Given the description of an element on the screen output the (x, y) to click on. 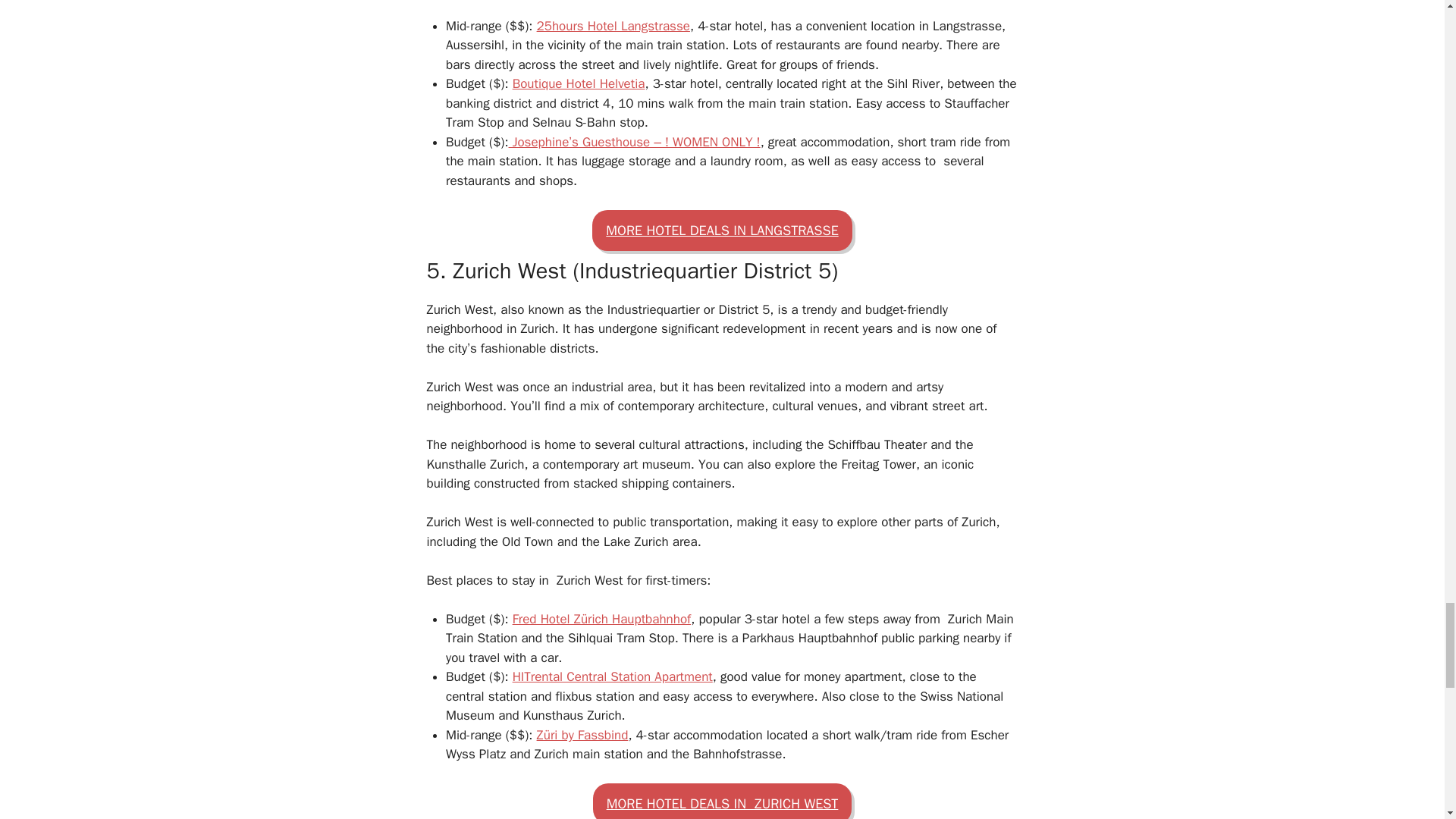
MORE HOTEL DEALS IN LANGSTRASSE (721, 229)
Boutique Hotel Helvetia (578, 83)
25hours Hotel Langstrasse (613, 26)
